Given the description of an element on the screen output the (x, y) to click on. 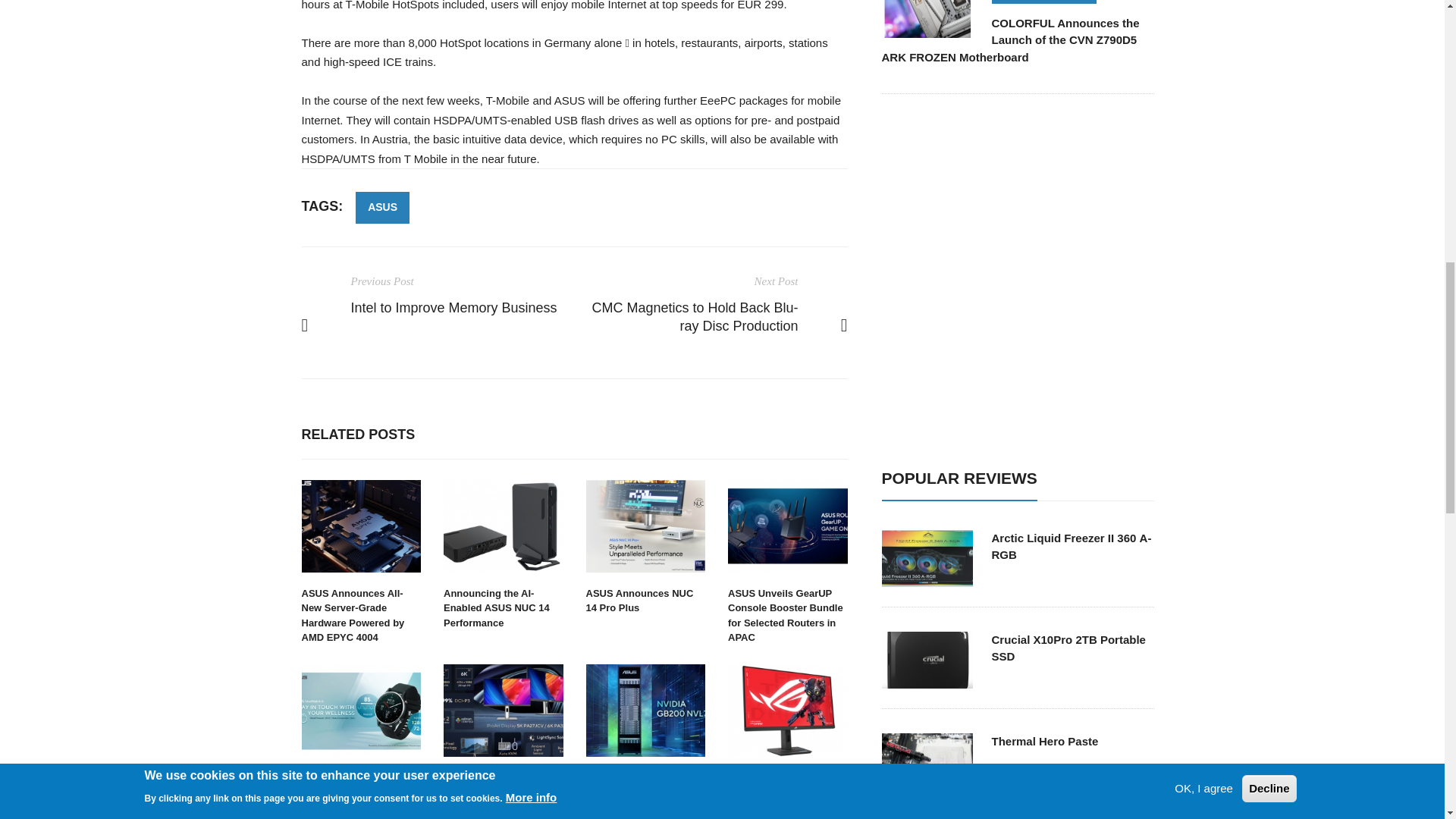
Announcing the AI-Enabled ASUS NUC 14 Performance (497, 608)
CMC Magnetics to Hold Back Blu-ray Disc Production (694, 317)
Intel to Improve Memory Business (453, 307)
ASUS (382, 207)
